Given the description of an element on the screen output the (x, y) to click on. 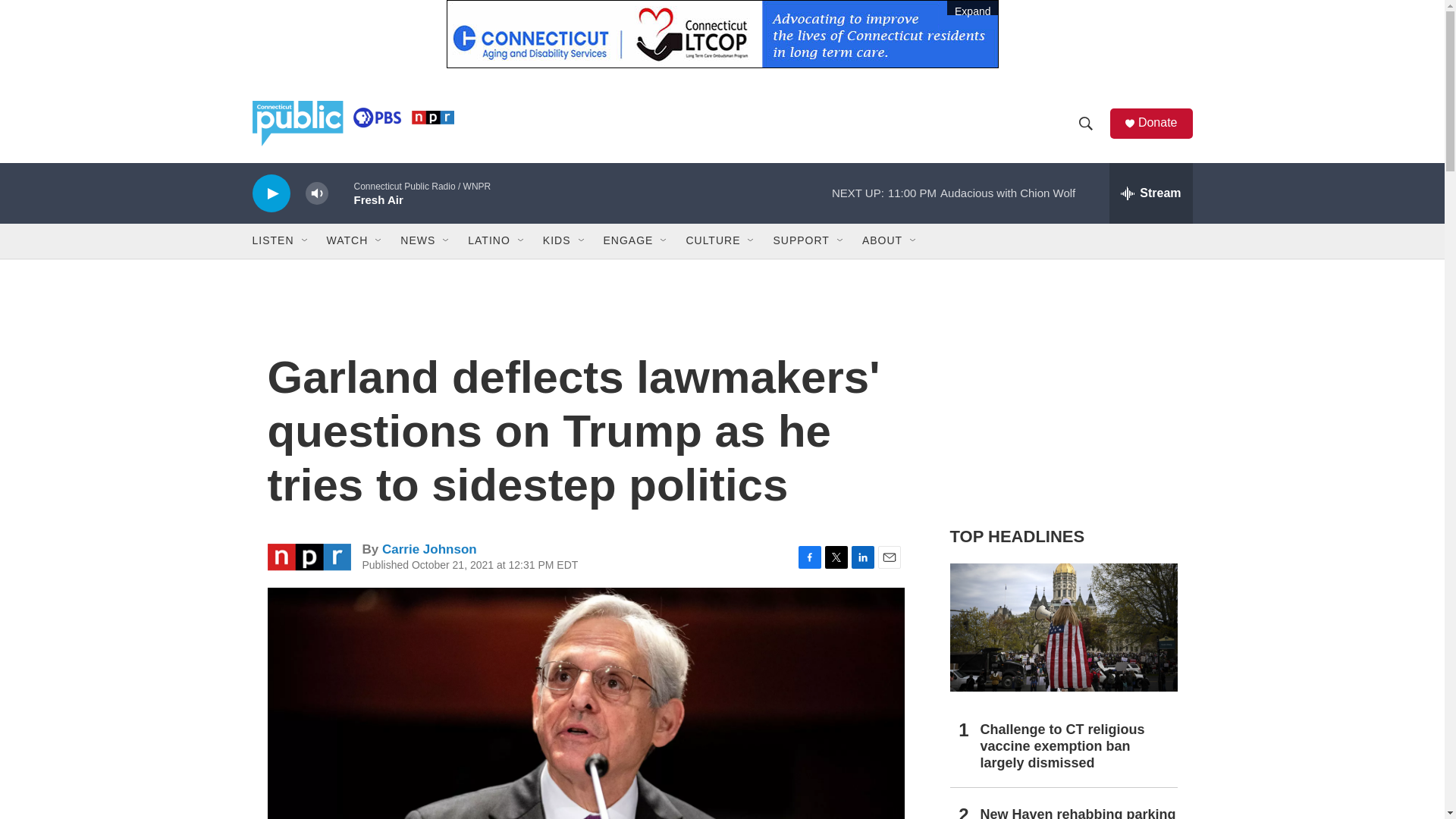
3rd party ad content (1062, 400)
Expand (721, 33)
